Given the description of an element on the screen output the (x, y) to click on. 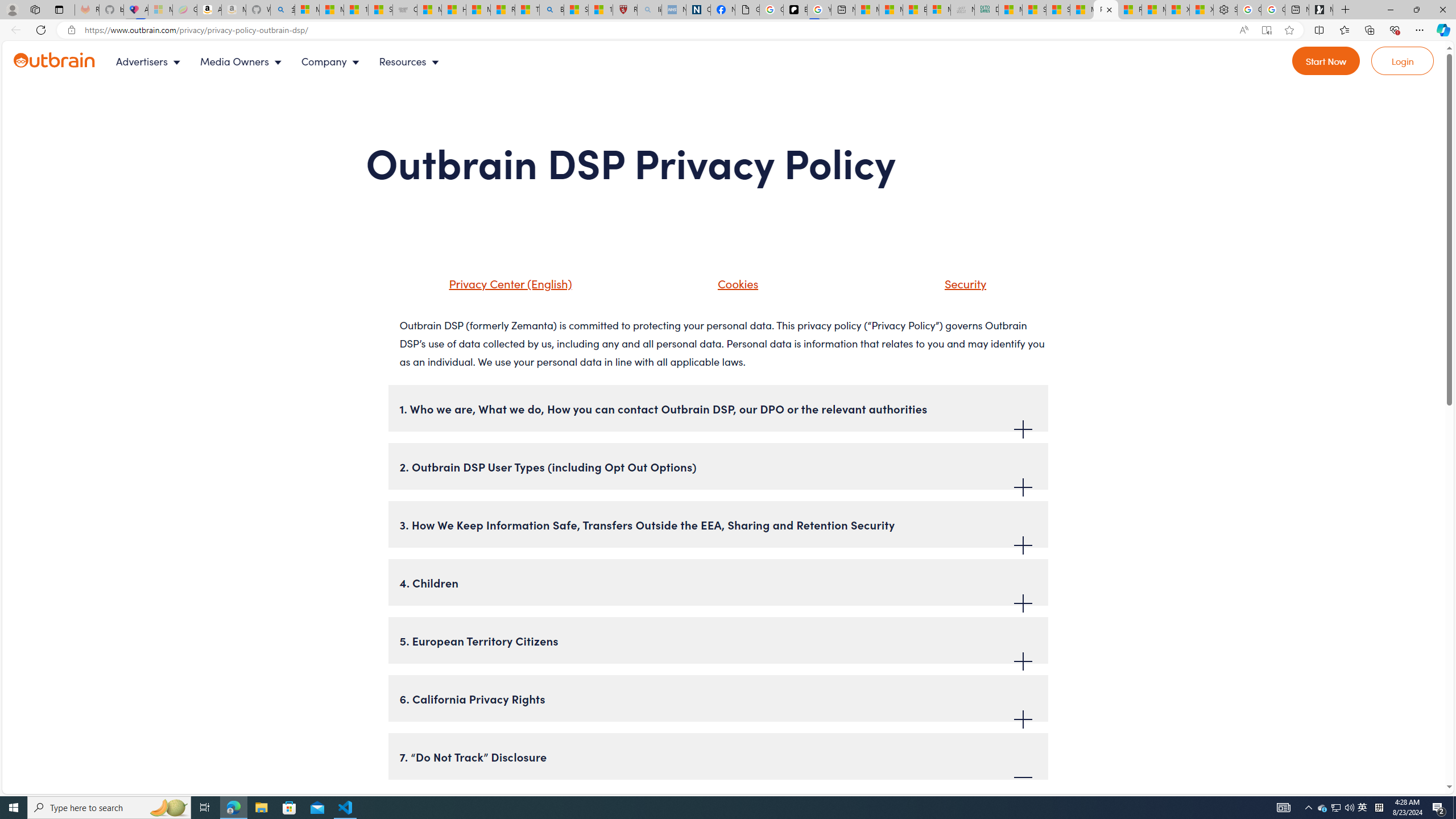
Robert H. Shmerling, MD - Harvard Health (625, 9)
2. Outbrain DSP User Types (including Opt Out Options) (717, 466)
Be Smart | creating Science videos | Patreon (795, 9)
Media Owners (242, 61)
12 Popular Science Lies that Must be Corrected (600, 9)
Privacy Center (English) (495, 287)
4. Children (717, 582)
